Given the description of an element on the screen output the (x, y) to click on. 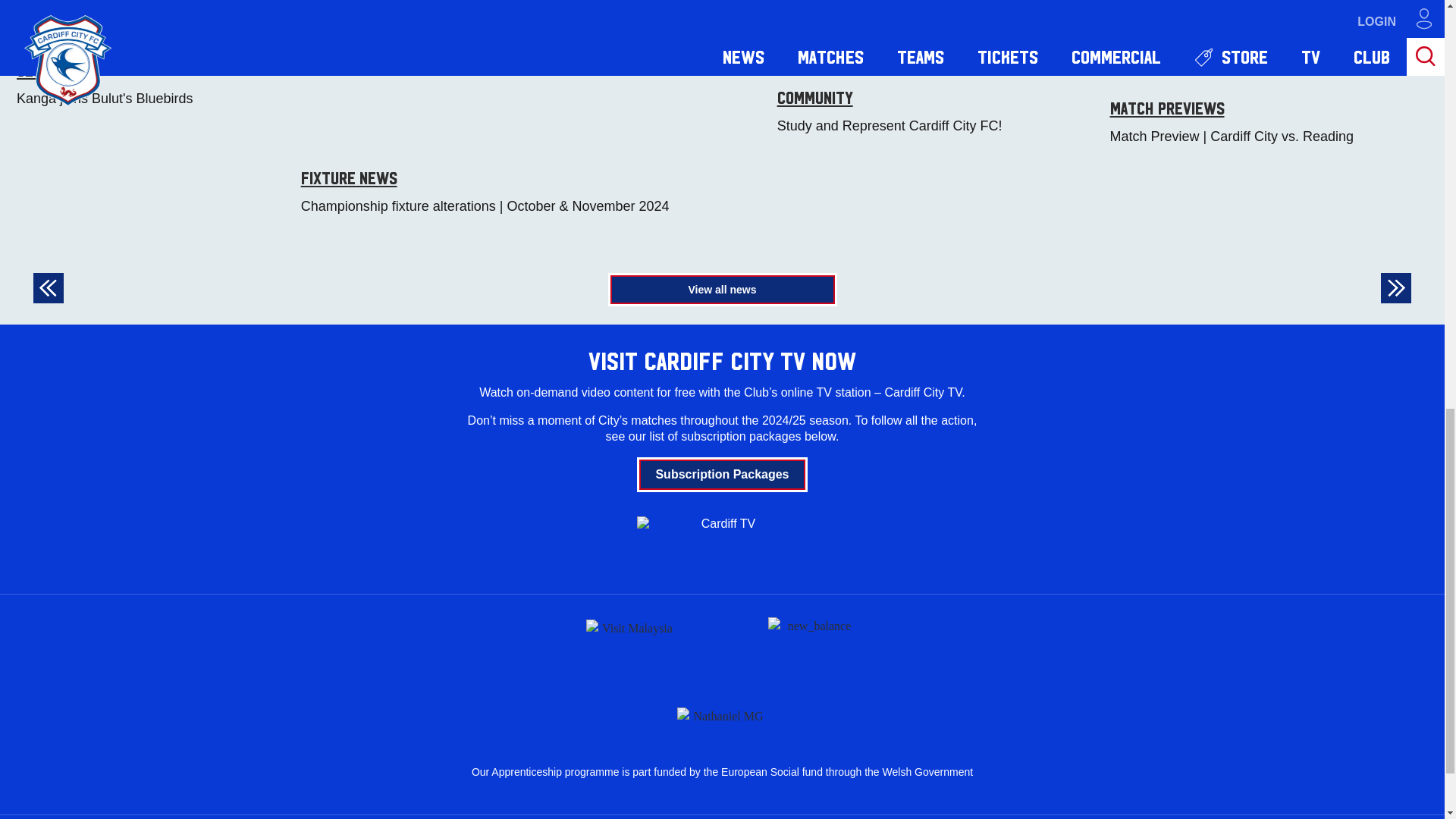
Nathaniel Cars (722, 713)
Visit Malaysia (631, 645)
New Balance (813, 645)
